Given the description of an element on the screen output the (x, y) to click on. 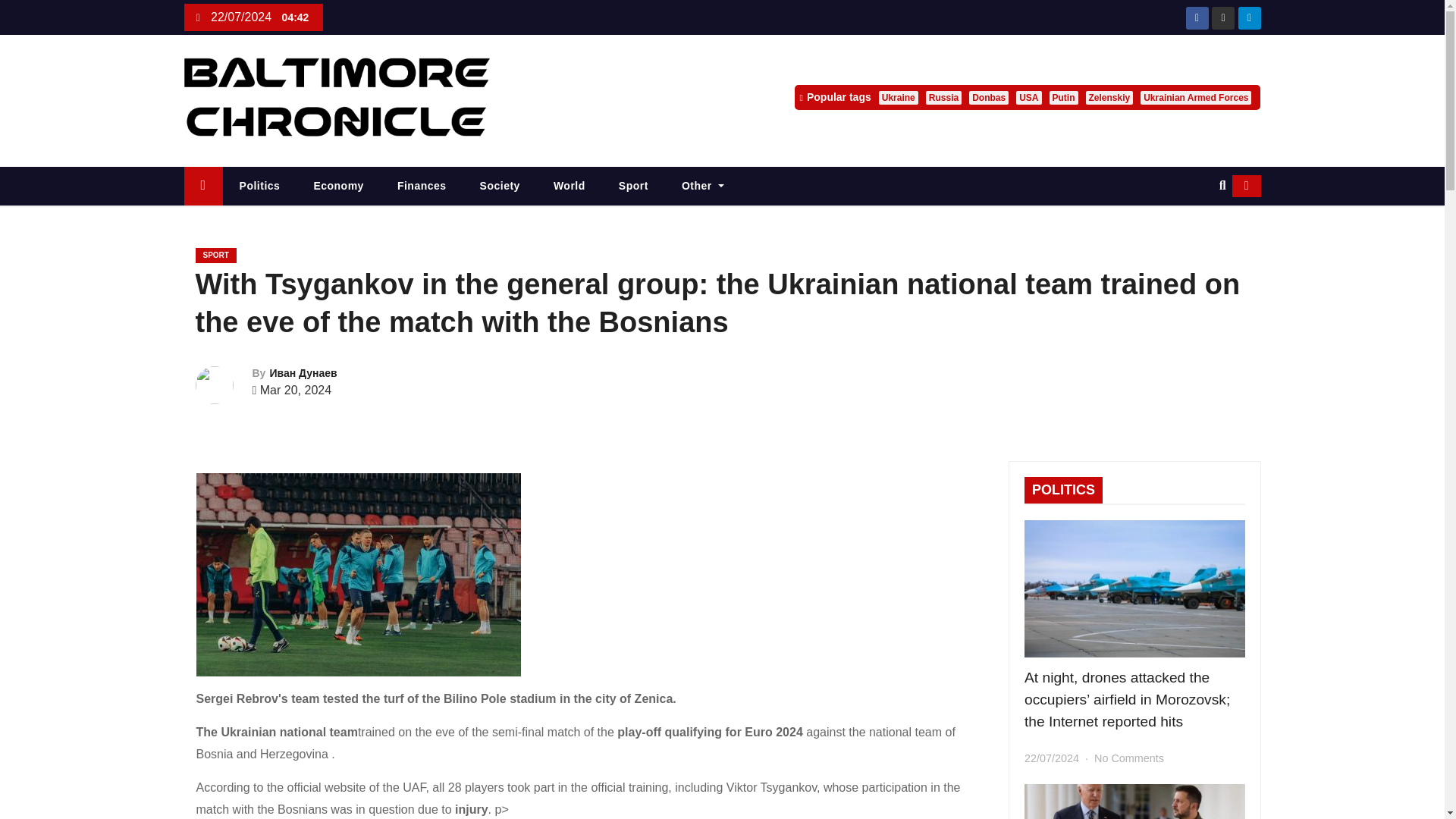
Putin (1063, 97)
Zelenskiy (1110, 97)
Society (500, 186)
Politics (259, 186)
Other (703, 186)
Society (500, 186)
Finances (421, 186)
Politics (259, 186)
Ukraine (898, 97)
Ukrainian Armed Forces (1195, 97)
Other (703, 186)
Economy (338, 186)
Finances (421, 186)
USA (1028, 97)
